Given the description of an element on the screen output the (x, y) to click on. 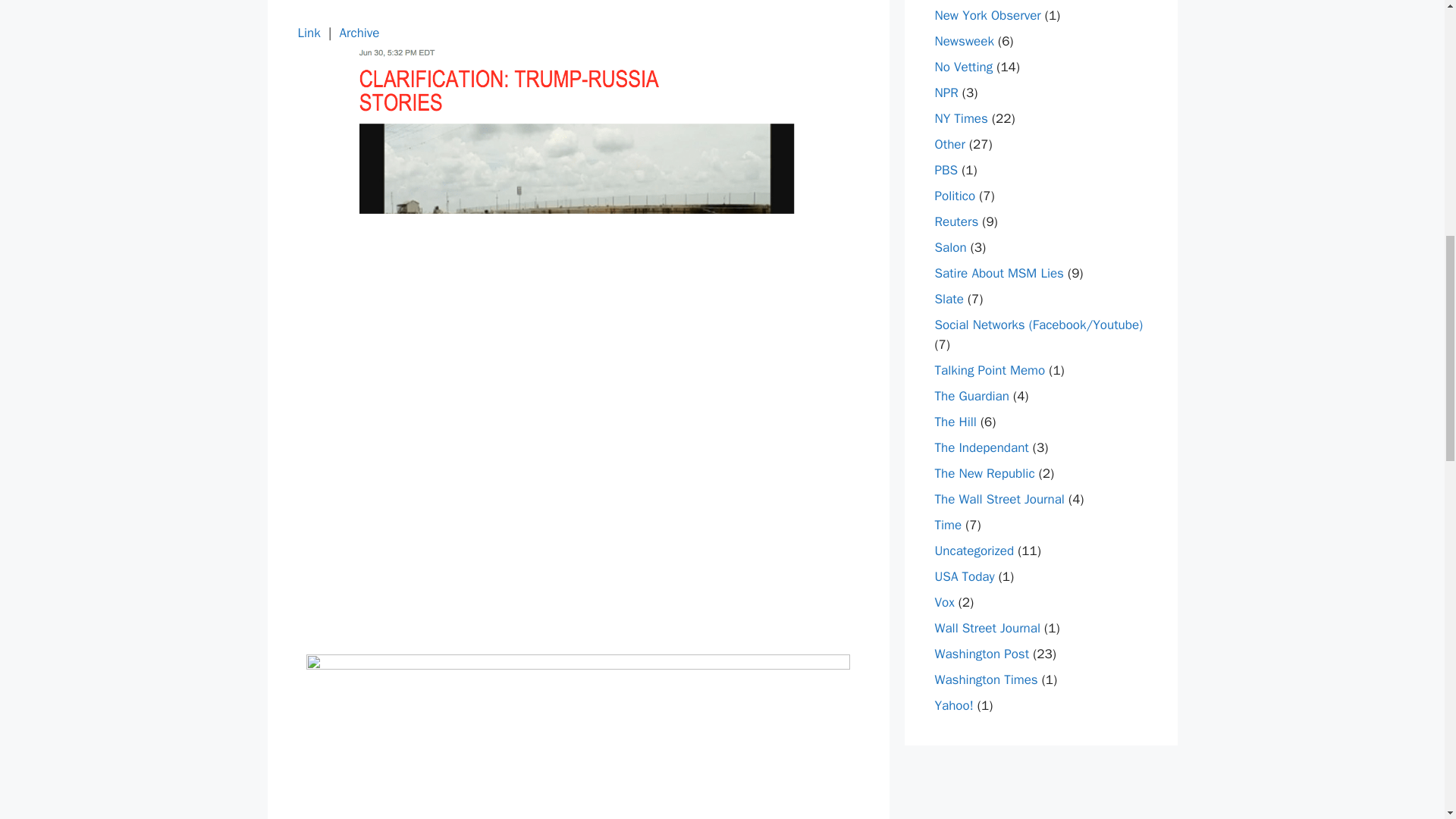
Link (308, 32)
NPR (946, 92)
Scroll back to top (1406, 720)
New York Observer (987, 15)
Newsweek (963, 41)
No Vetting (963, 66)
